Given the description of an element on the screen output the (x, y) to click on. 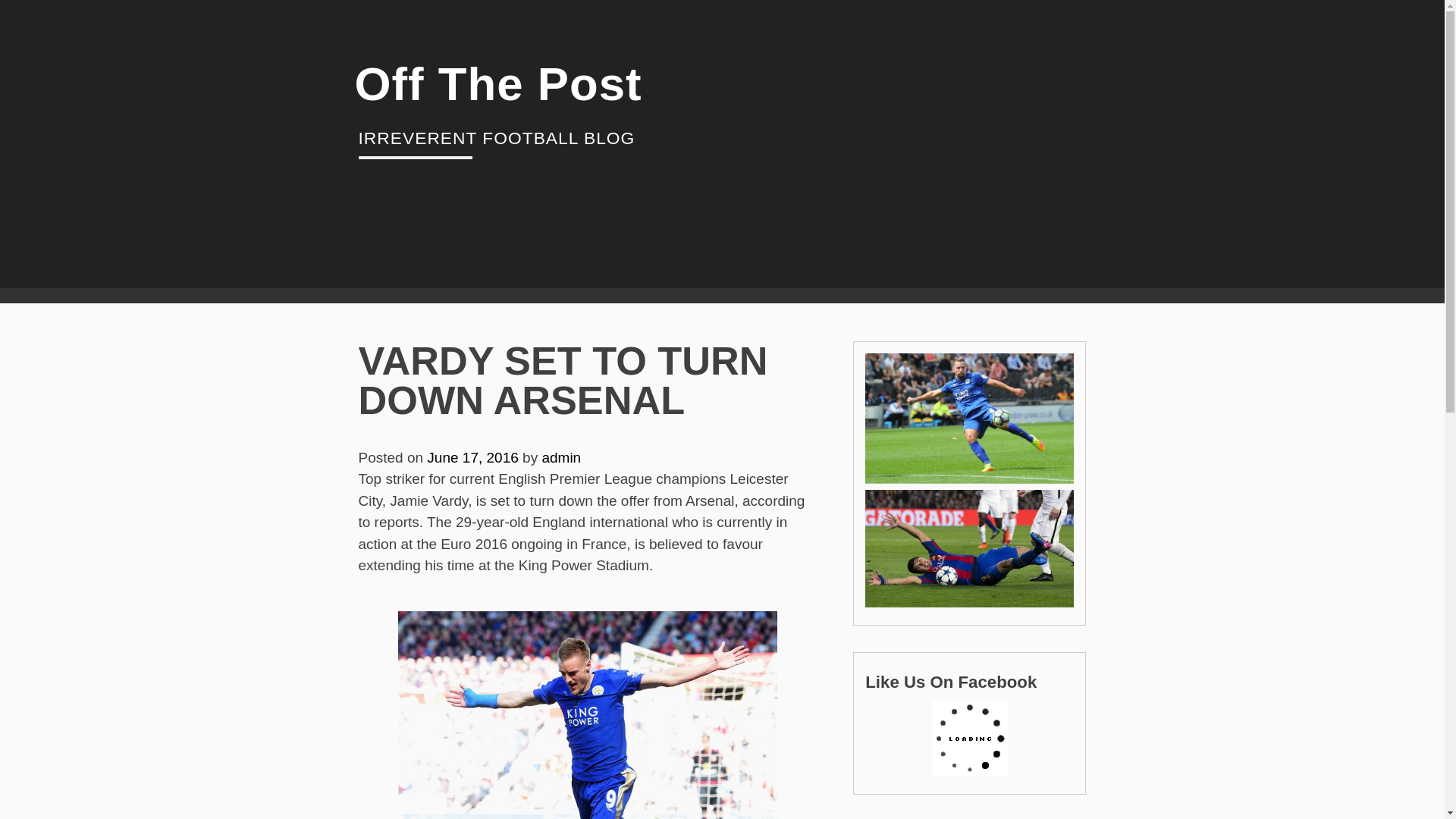
June 17, 2016 (472, 456)
Off The Post (498, 83)
Off The Post (498, 83)
admin (560, 456)
